Given the description of an element on the screen output the (x, y) to click on. 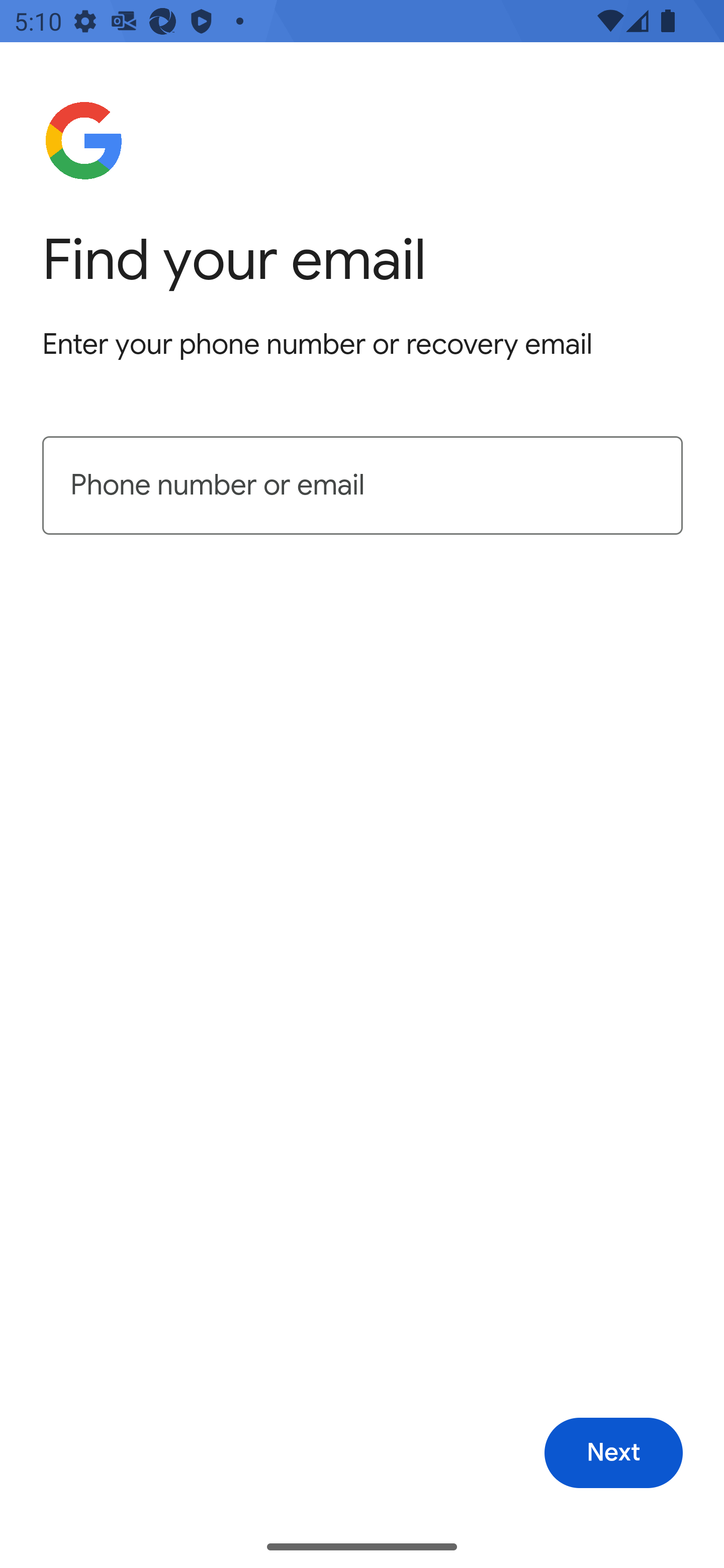
Next (613, 1453)
